Given the description of an element on the screen output the (x, y) to click on. 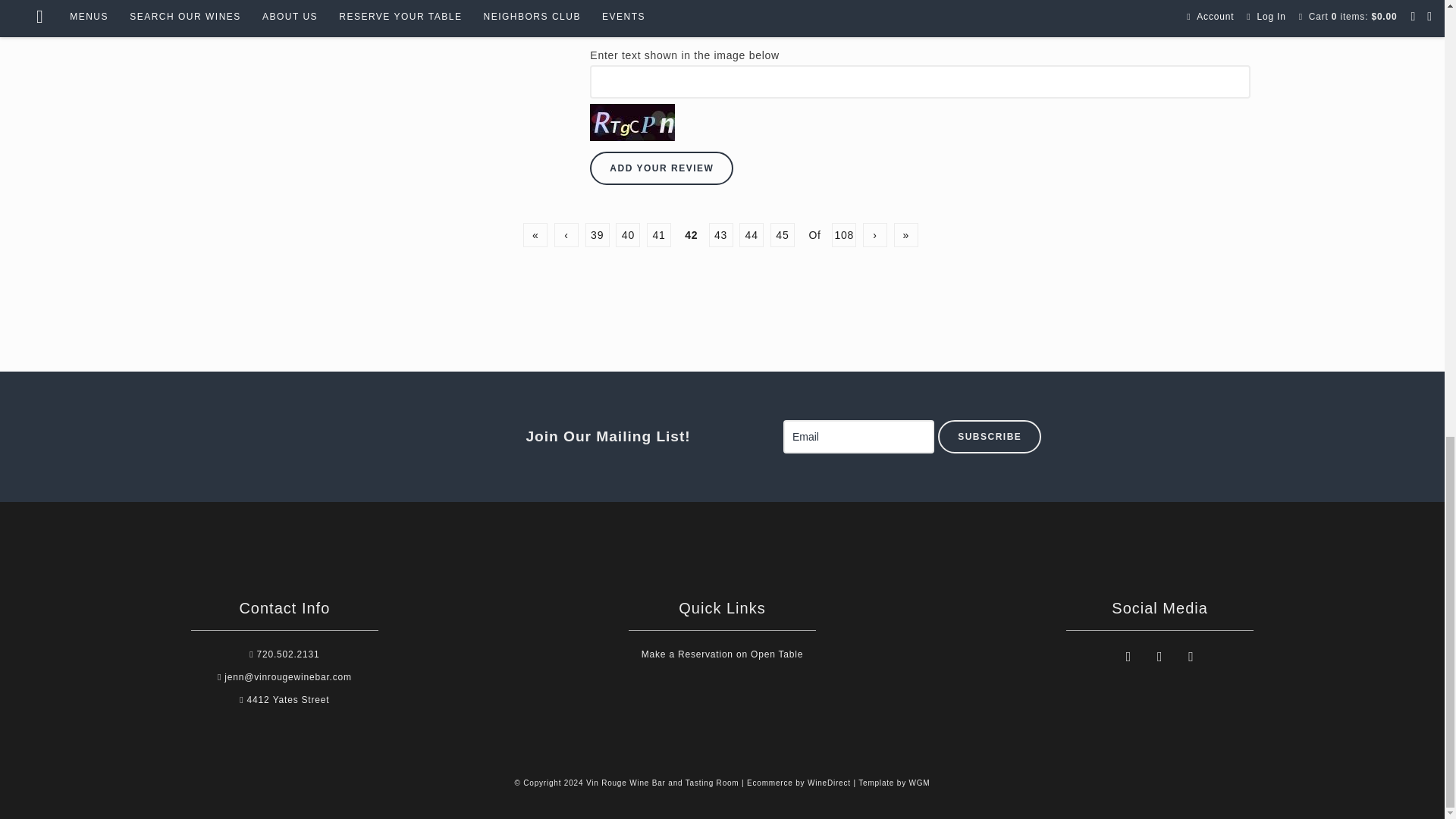
1 (594, 28)
Email (858, 436)
ADD YOUR REVIEW (661, 168)
